Given the description of an element on the screen output the (x, y) to click on. 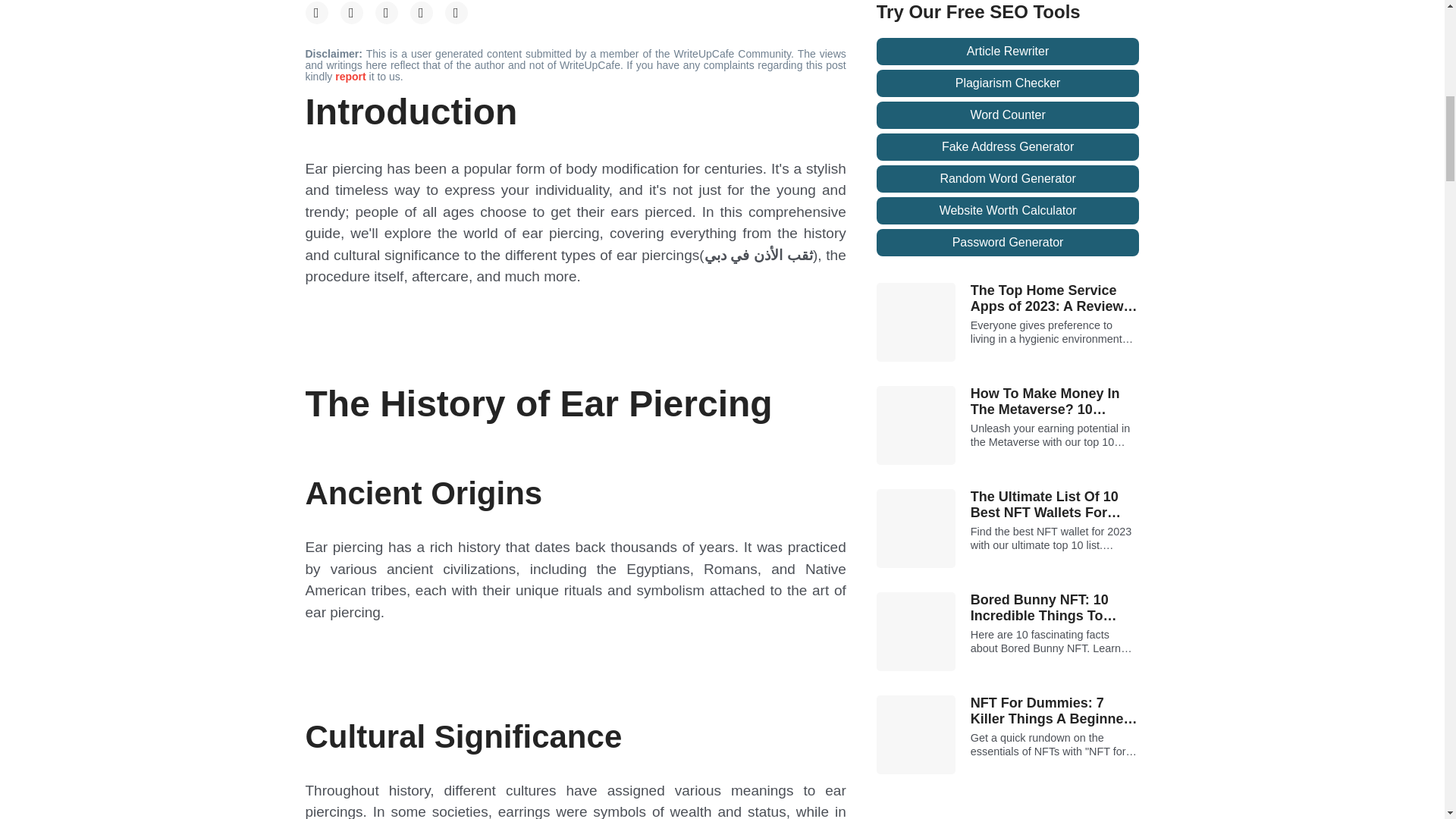
Article Rewriter (1008, 51)
The Top Home Service Apps of 2023: A Review and Comparison (1055, 298)
report (351, 76)
Plagiarism Checker (1008, 83)
Fake Address Generator (1008, 146)
The Ultimate List Of 10 Best NFT Wallets For 2023 (1055, 504)
Word Counter (1008, 114)
Random Word Generator (1008, 178)
Password Generator (1008, 242)
Website Worth Calculator (1008, 210)
